Given the description of an element on the screen output the (x, y) to click on. 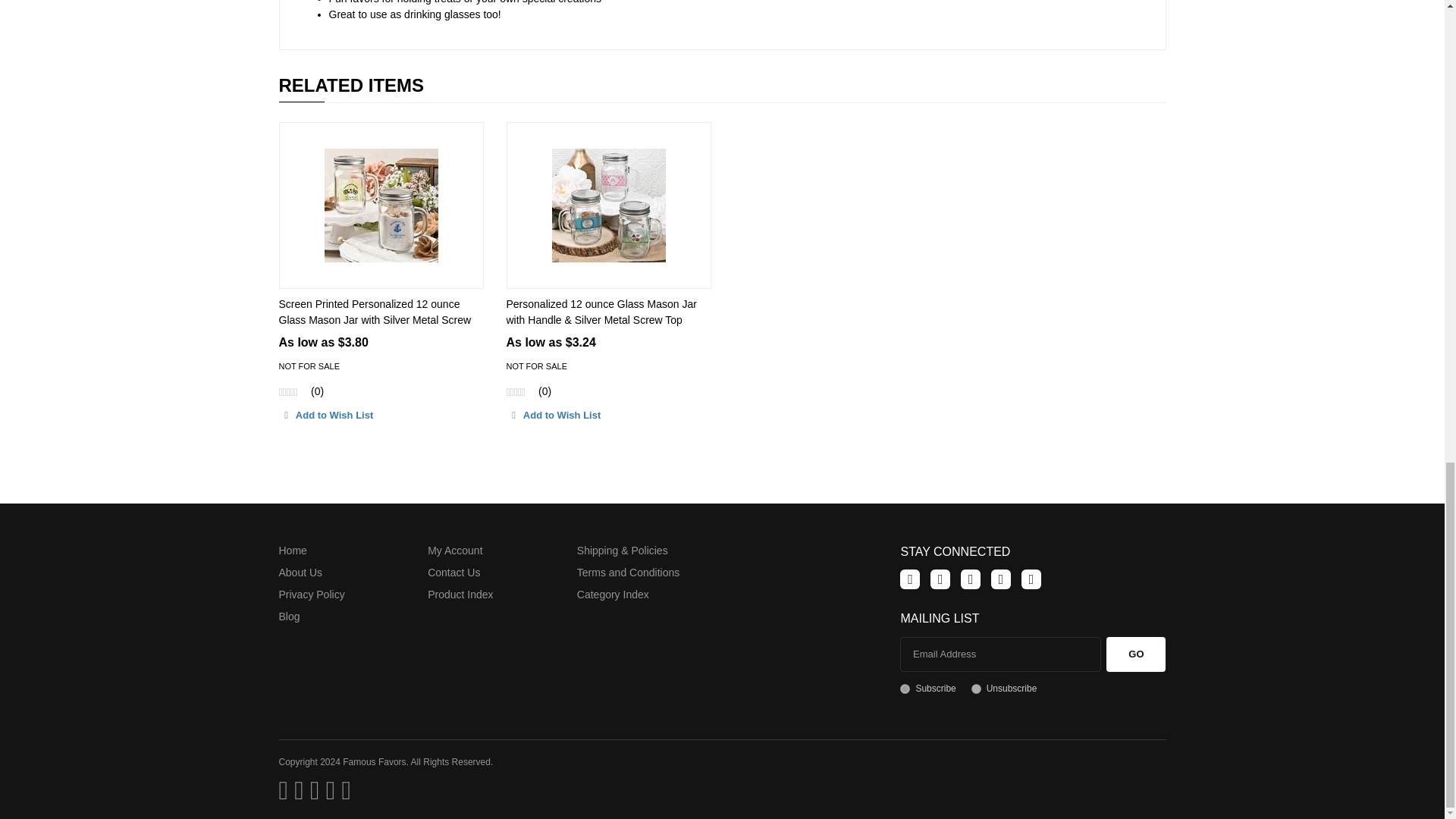
Follow Us on Twitter (940, 578)
Like Us on Facebook (909, 578)
Follow Us on Instagram (1031, 578)
1 (904, 688)
0 (976, 688)
Follow Us on Pinterest (1000, 578)
Subscribe to our Channel (969, 578)
